Given the description of an element on the screen output the (x, y) to click on. 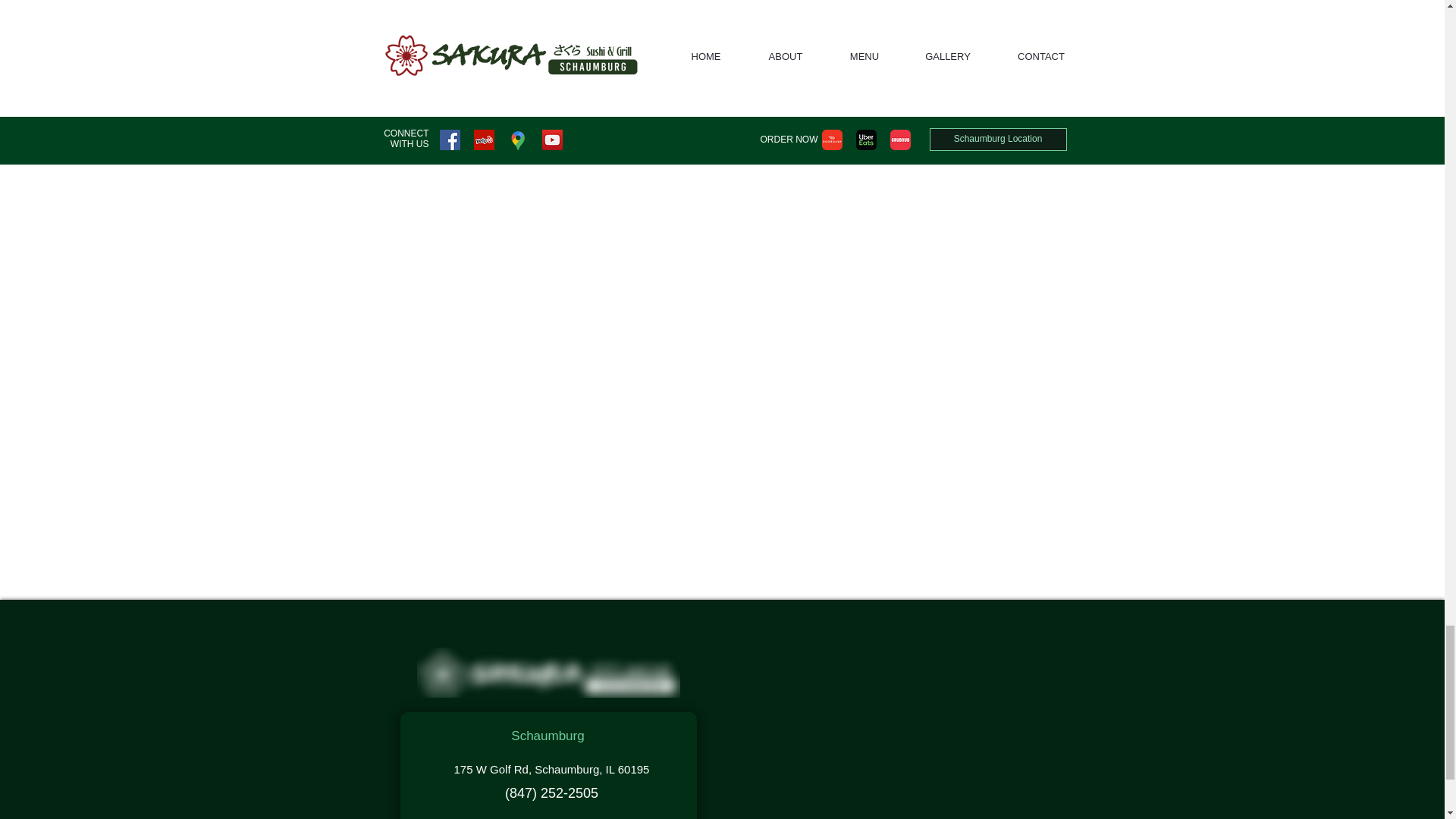
Embedded Content (895, 734)
